Given the description of an element on the screen output the (x, y) to click on. 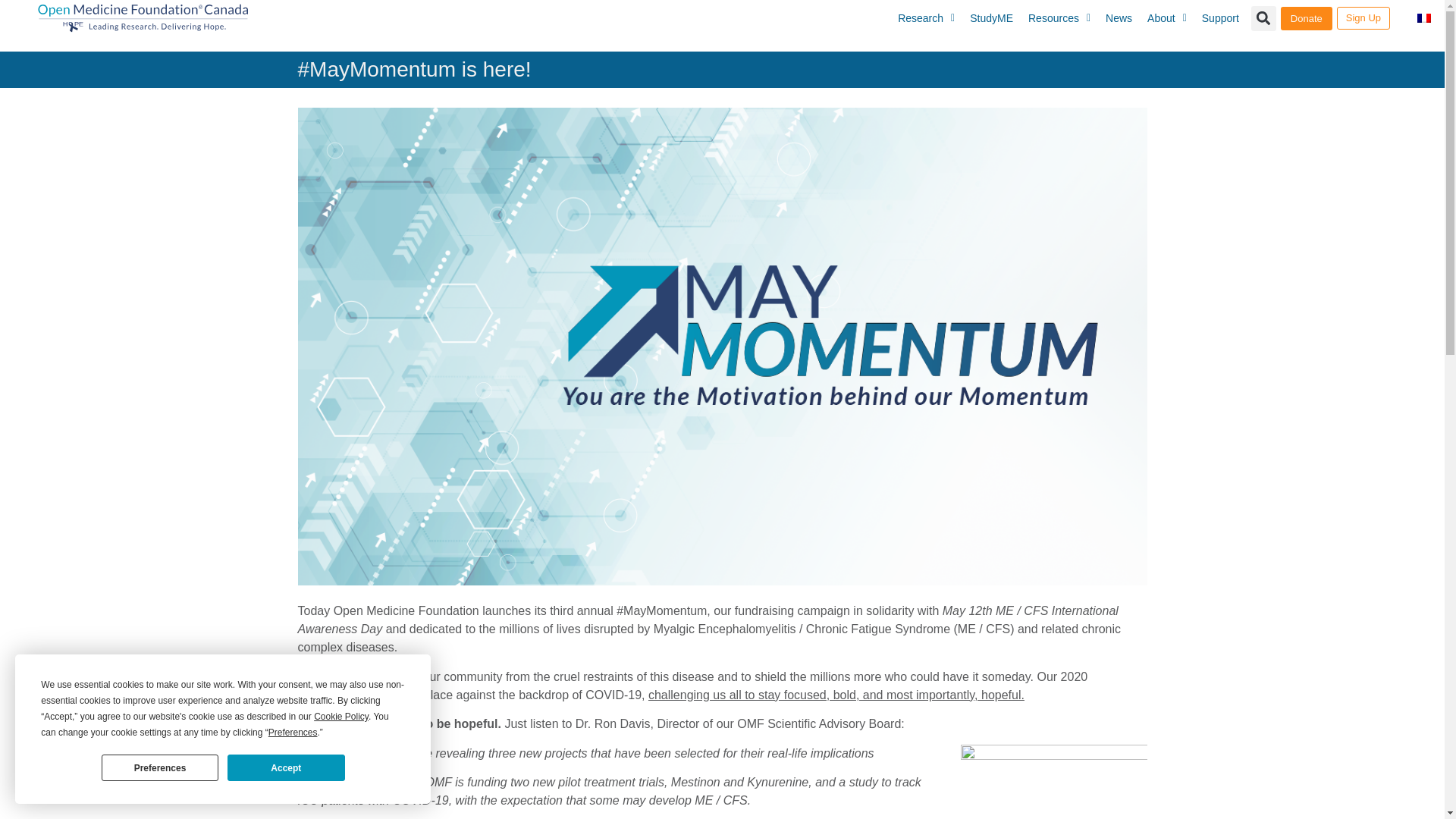
Research (925, 18)
StudyME (991, 18)
Resources (1058, 18)
Preferences (159, 767)
About (1166, 18)
News (1118, 18)
Accept (285, 767)
